Given the description of an element on the screen output the (x, y) to click on. 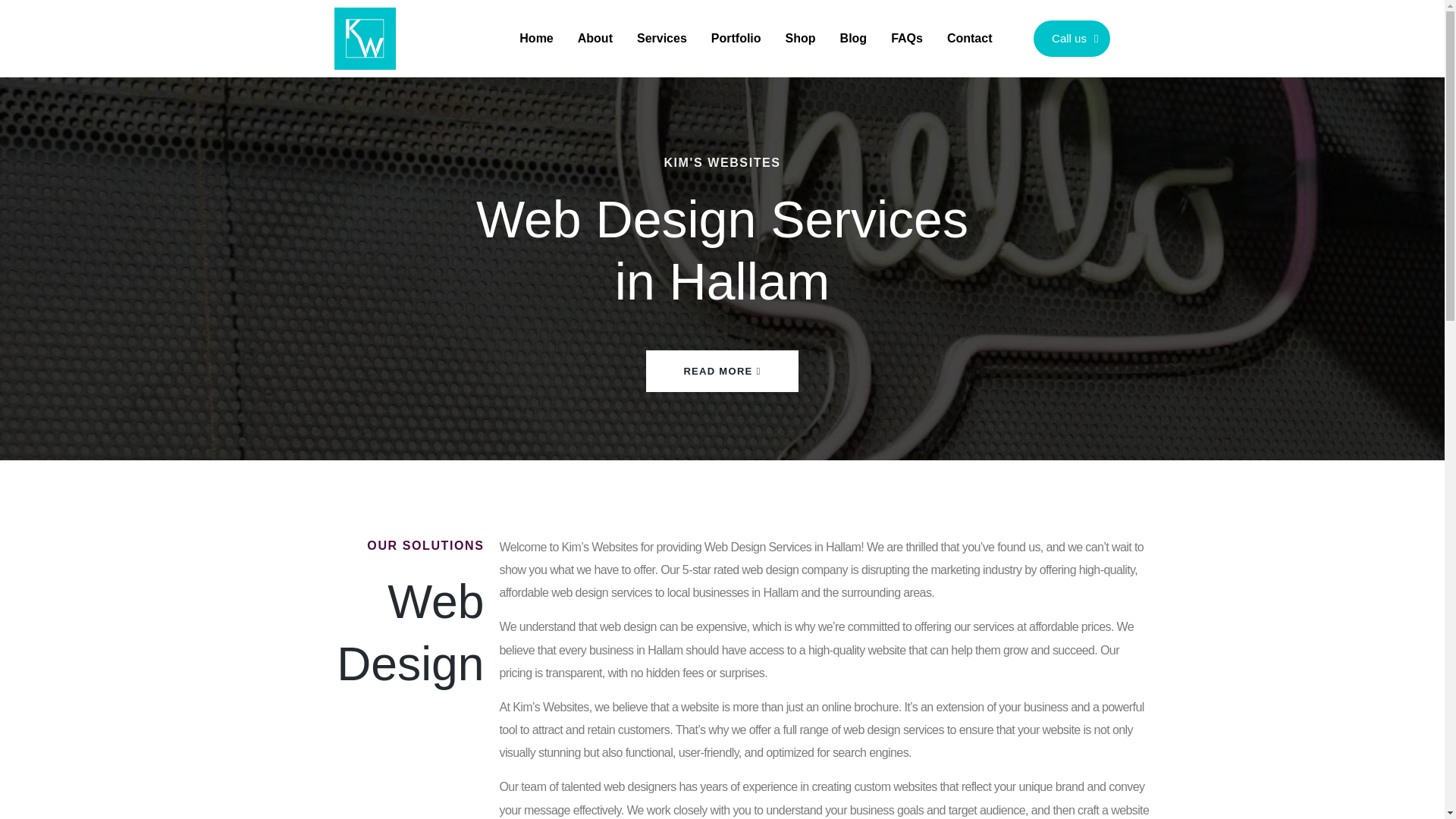
Shop (800, 20)
Contact (969, 23)
Services (661, 13)
Home (535, 11)
Portfolio (735, 18)
Blog (853, 21)
Call us (1071, 38)
FAQs (906, 22)
About (595, 12)
